Given the description of an element on the screen output the (x, y) to click on. 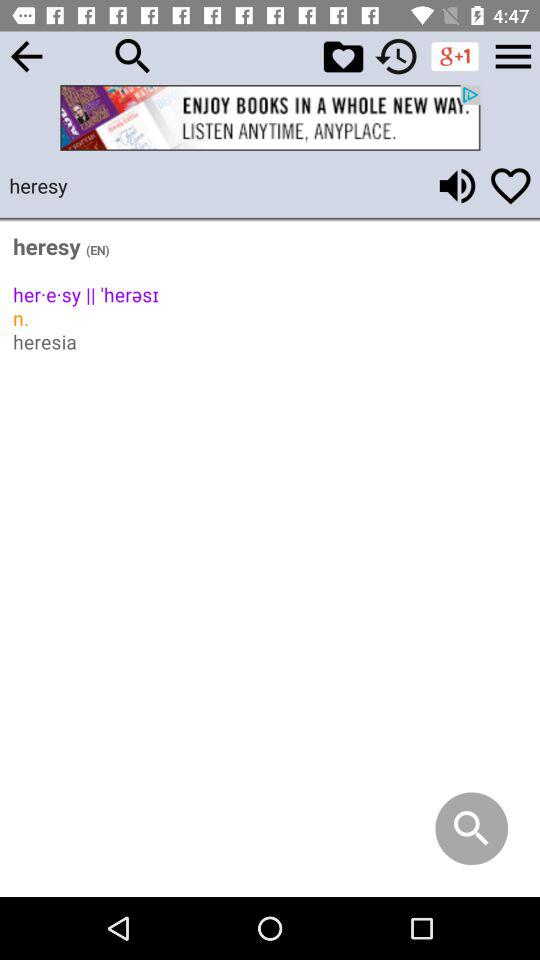
watch later (396, 56)
